Given the description of an element on the screen output the (x, y) to click on. 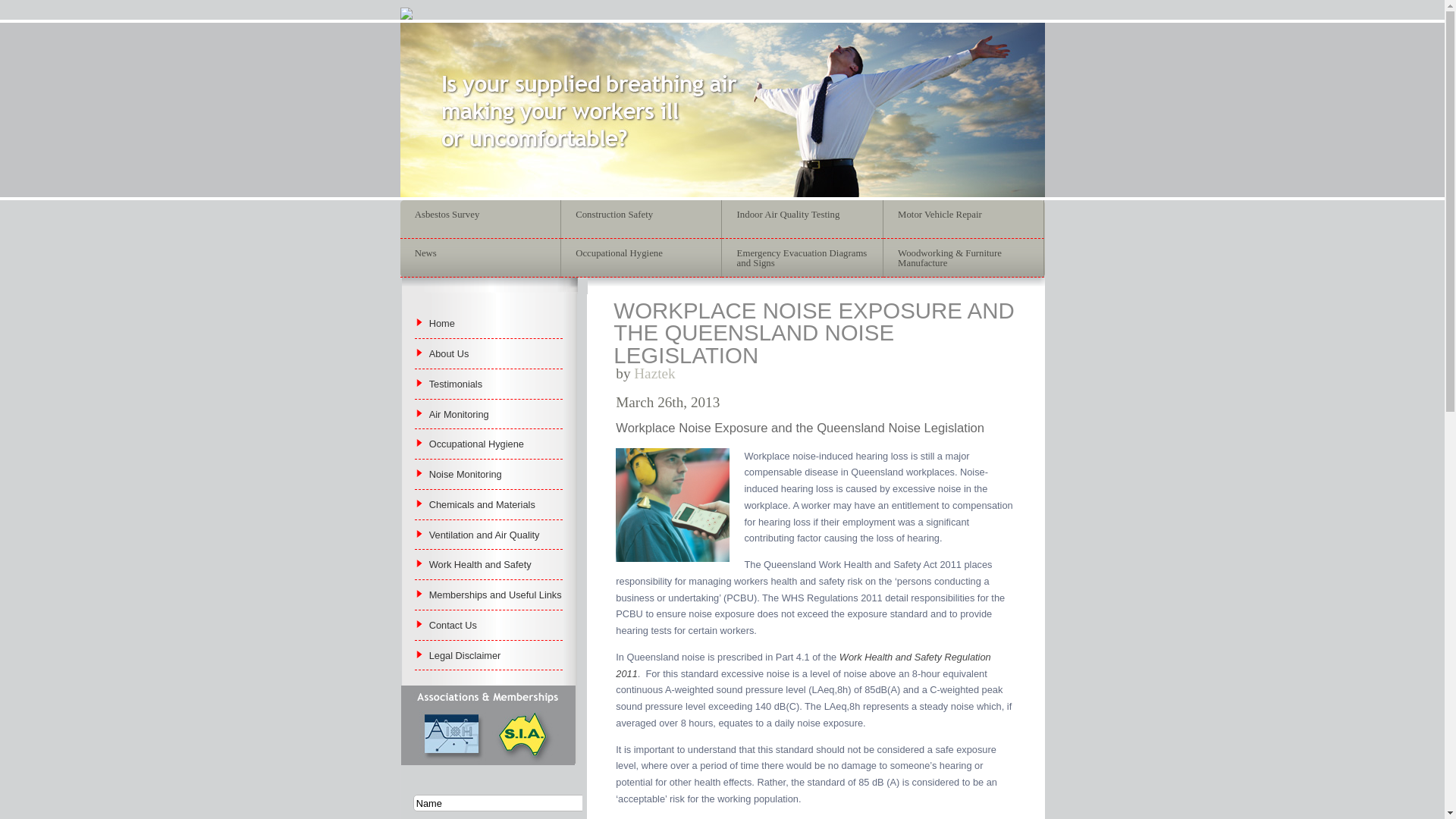
Occupational Hygiene Element type: text (641, 253)
Asbestos Survey Element type: text (479, 215)
Emergency Evacuation Diagrams and Signs Element type: text (801, 258)
About Us Element type: text (449, 353)
Construction Safety Element type: text (641, 215)
Queensland Noise Legislation Element type: hover (672, 504)
Ventilation and Air Quality Element type: text (484, 534)
Chemicals and Materials Element type: text (482, 504)
Work Health and Safety Element type: text (480, 564)
Indoor Air Quality Testing Element type: text (801, 215)
Work Health and Safety Regulation 2011 Element type: text (802, 665)
Motor Vehicle Repair Element type: text (963, 215)
Contact Us Element type: text (452, 624)
Testimonials Element type: text (455, 383)
Air Monitoring Element type: text (459, 414)
News Element type: text (479, 253)
Home Element type: text (442, 323)
Noise Monitoring Element type: text (465, 474)
Legal Disclaimer Element type: text (465, 655)
Memberships and Useful Links Element type: text (495, 594)
Haztek Element type: text (653, 373)
Woodworking & Furniture Manufacture Element type: text (963, 258)
Occupational Hygiene Element type: text (476, 443)
